Given the description of an element on the screen output the (x, y) to click on. 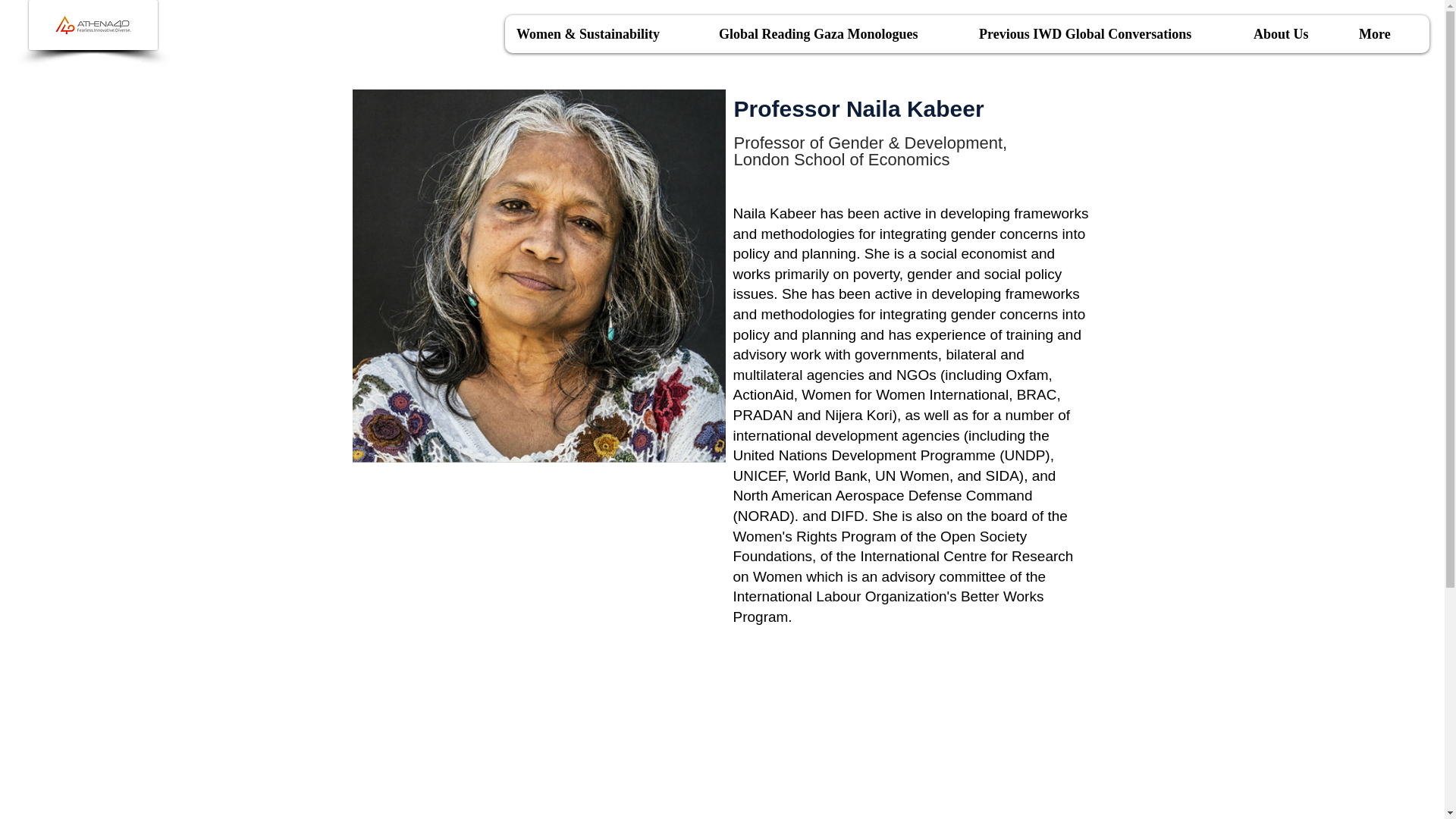
Global Reading Gaza Monologues (836, 34)
Previous IWD Global Conversations (1103, 34)
About Us (1293, 34)
